Given the description of an element on the screen output the (x, y) to click on. 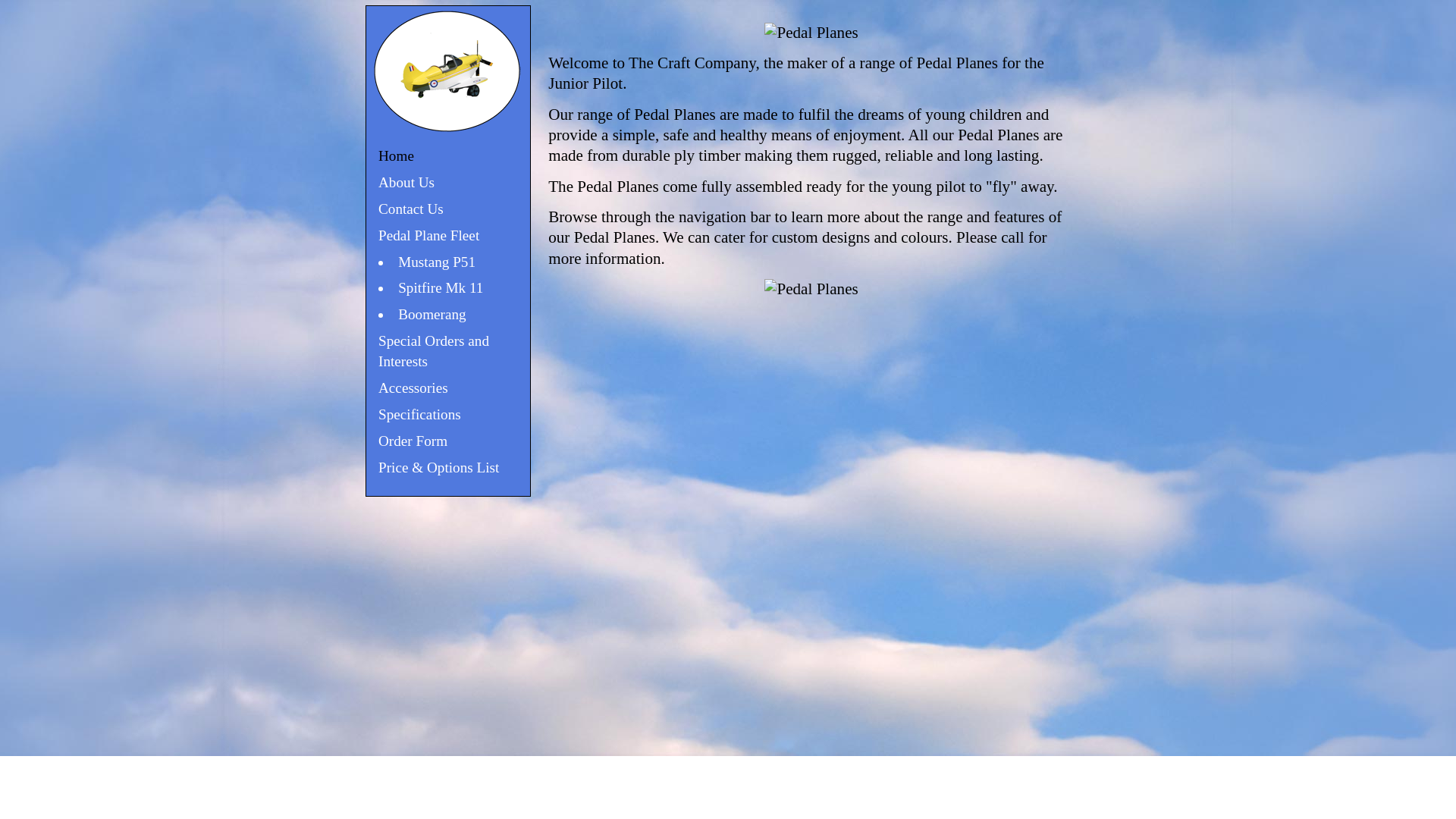
Specifications Element type: text (419, 414)
Mustang P51 Element type: text (436, 261)
Special Orders and Interests Element type: text (433, 350)
Spitfire Mk 11 Element type: text (440, 287)
Home Element type: text (396, 155)
Boomerang Element type: text (432, 314)
Order Form Element type: text (412, 440)
Pedal Plane Fleet Element type: text (428, 235)
Pedal Planes for Junior Pilots Element type: text (448, 130)
Price & Options List Element type: text (438, 467)
Contact Us Element type: text (410, 208)
About Us Element type: text (406, 182)
Accessories Element type: text (413, 387)
